Given the description of an element on the screen output the (x, y) to click on. 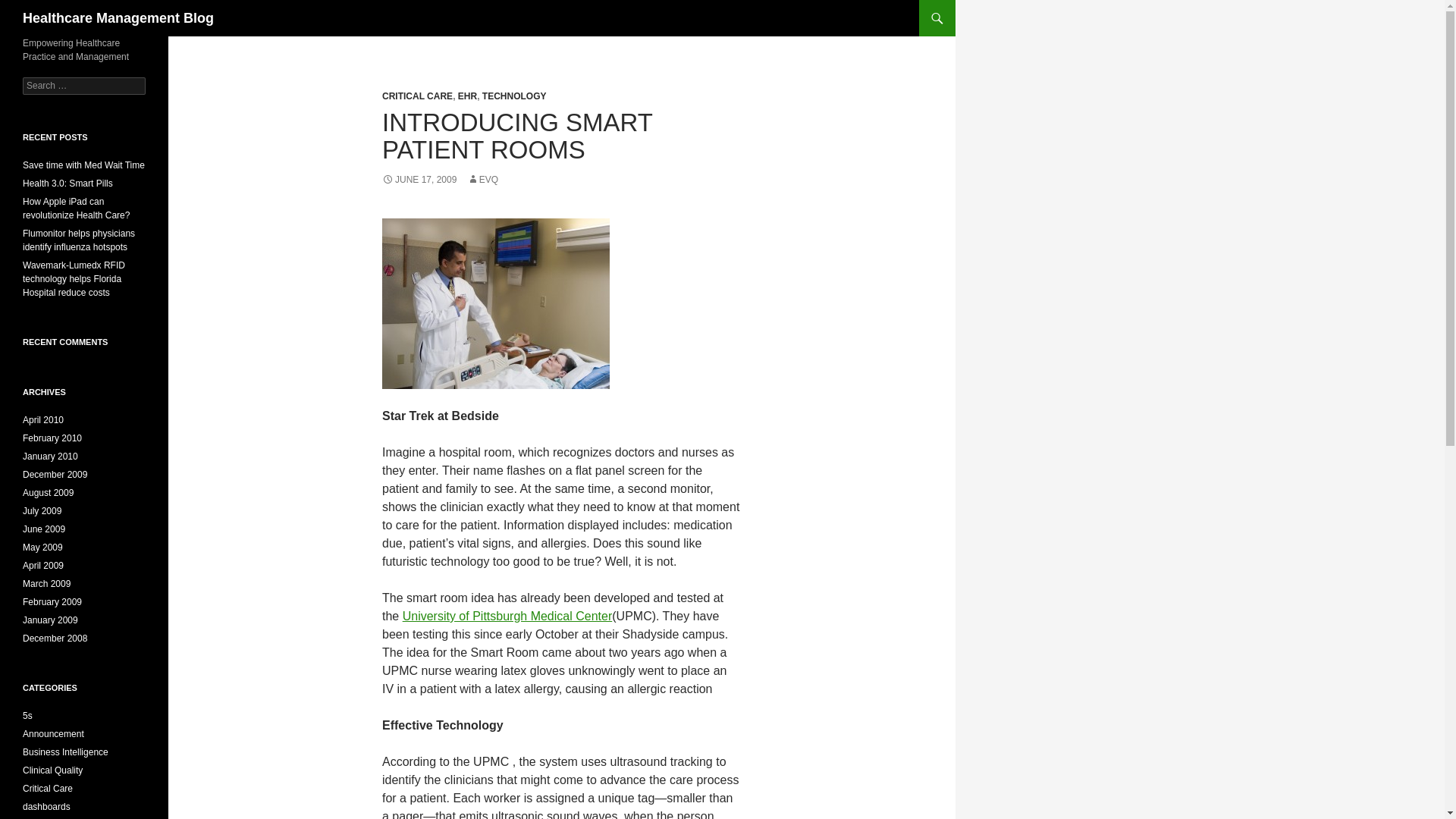
July 2009 (42, 511)
How Apple iPad can revolutionize Health Care? (76, 208)
Critical Care (47, 787)
Search (30, 8)
Announcement (53, 733)
Flumonitor helps physicians identify influenza hotspots (79, 240)
April 2010 (43, 419)
University of Pittsburgh Medical Center (507, 615)
JUNE 17, 2009 (419, 179)
